Given the description of an element on the screen output the (x, y) to click on. 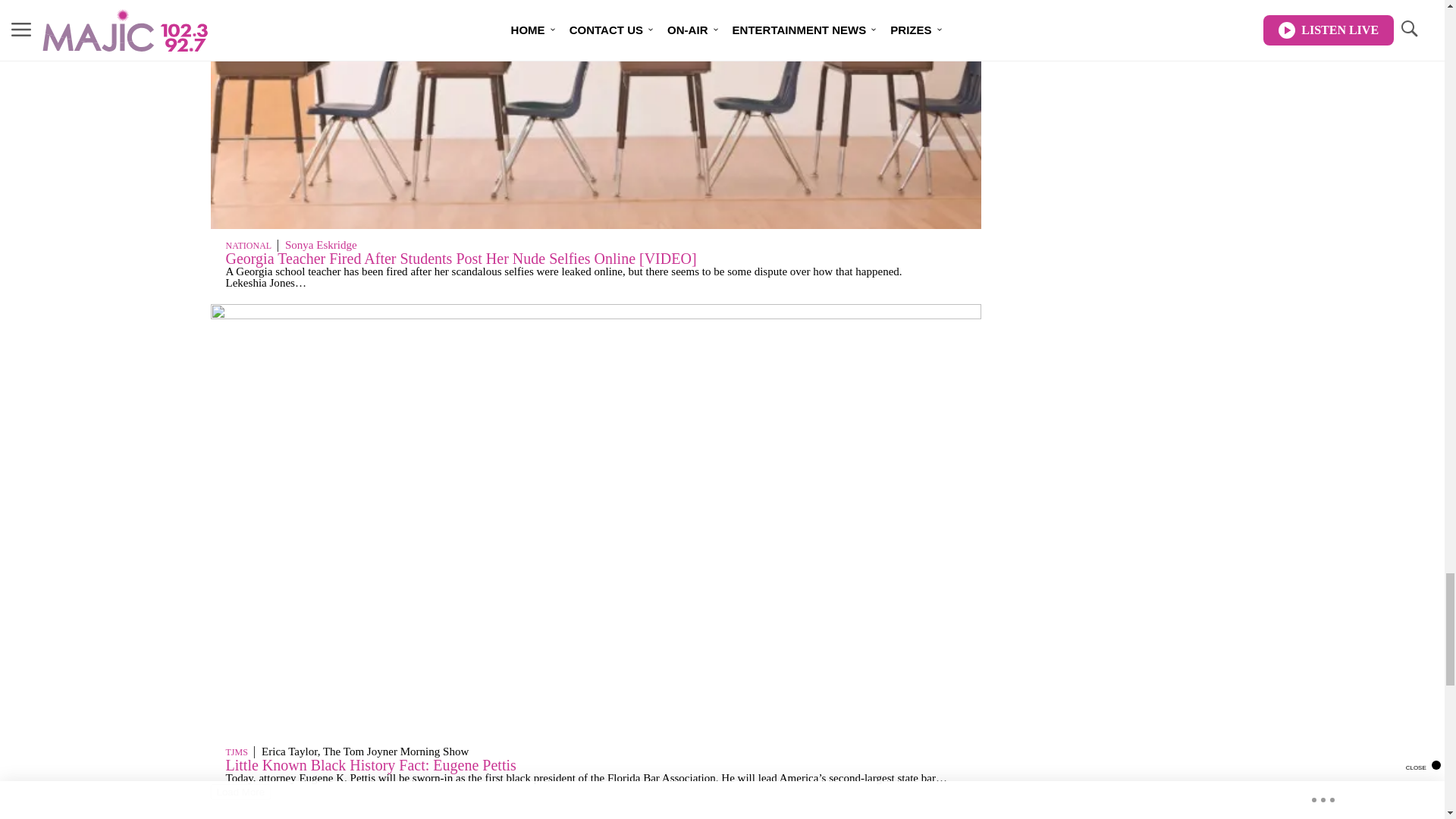
Load More (240, 791)
Load More (596, 791)
